Given the description of an element on the screen output the (x, y) to click on. 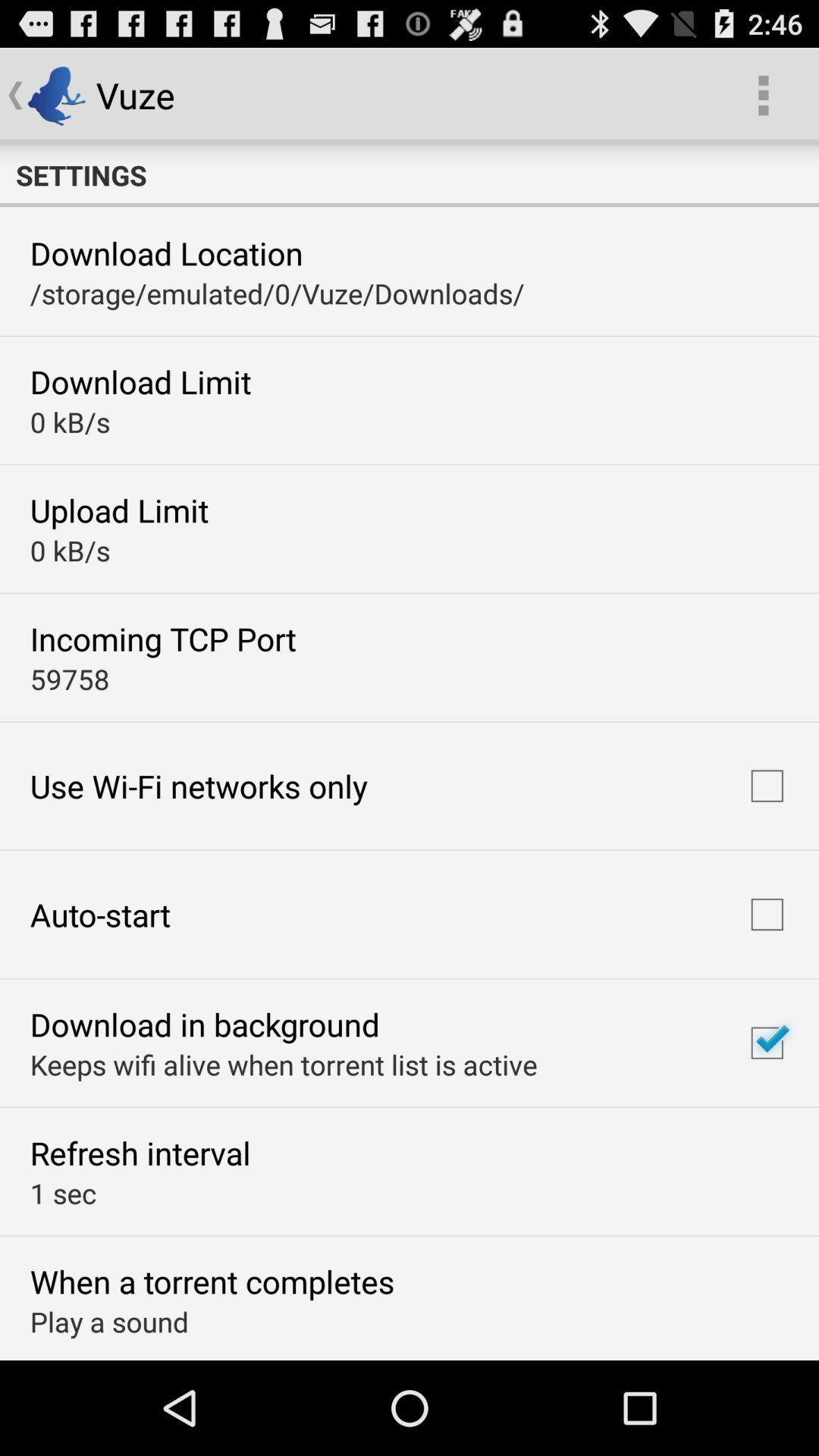
open icon above 1 sec item (140, 1152)
